Given the description of an element on the screen output the (x, y) to click on. 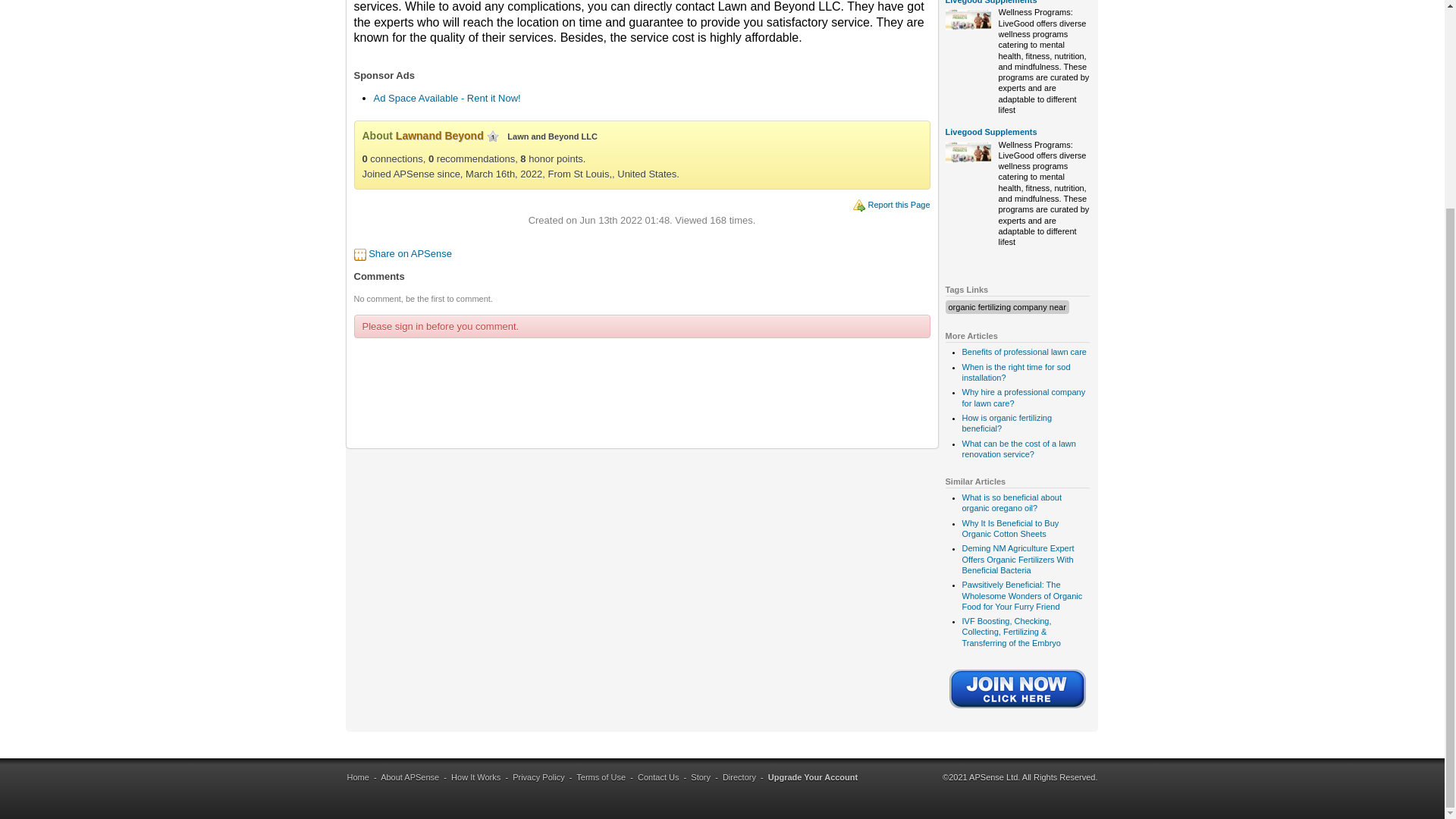
Share on APSense (409, 253)
Why hire a professional company for lawn care? (1022, 397)
When is the right time for sod installation? (1015, 372)
Join APSense Social Network (1017, 709)
What can be the cost of a lawn renovation service? (1017, 448)
Why It Is Beneficial to Buy Organic Cotton Sheets (1009, 528)
Lawnand Beyond (439, 135)
organic fertilizing company near (1006, 307)
Junior (492, 136)
When is the right time for sod installation? (1015, 372)
Livegood Supplements (990, 131)
What is so beneficial about organic oregano oil? (1010, 502)
Livegood Supplements (990, 2)
Report this Page (898, 204)
